Given the description of an element on the screen output the (x, y) to click on. 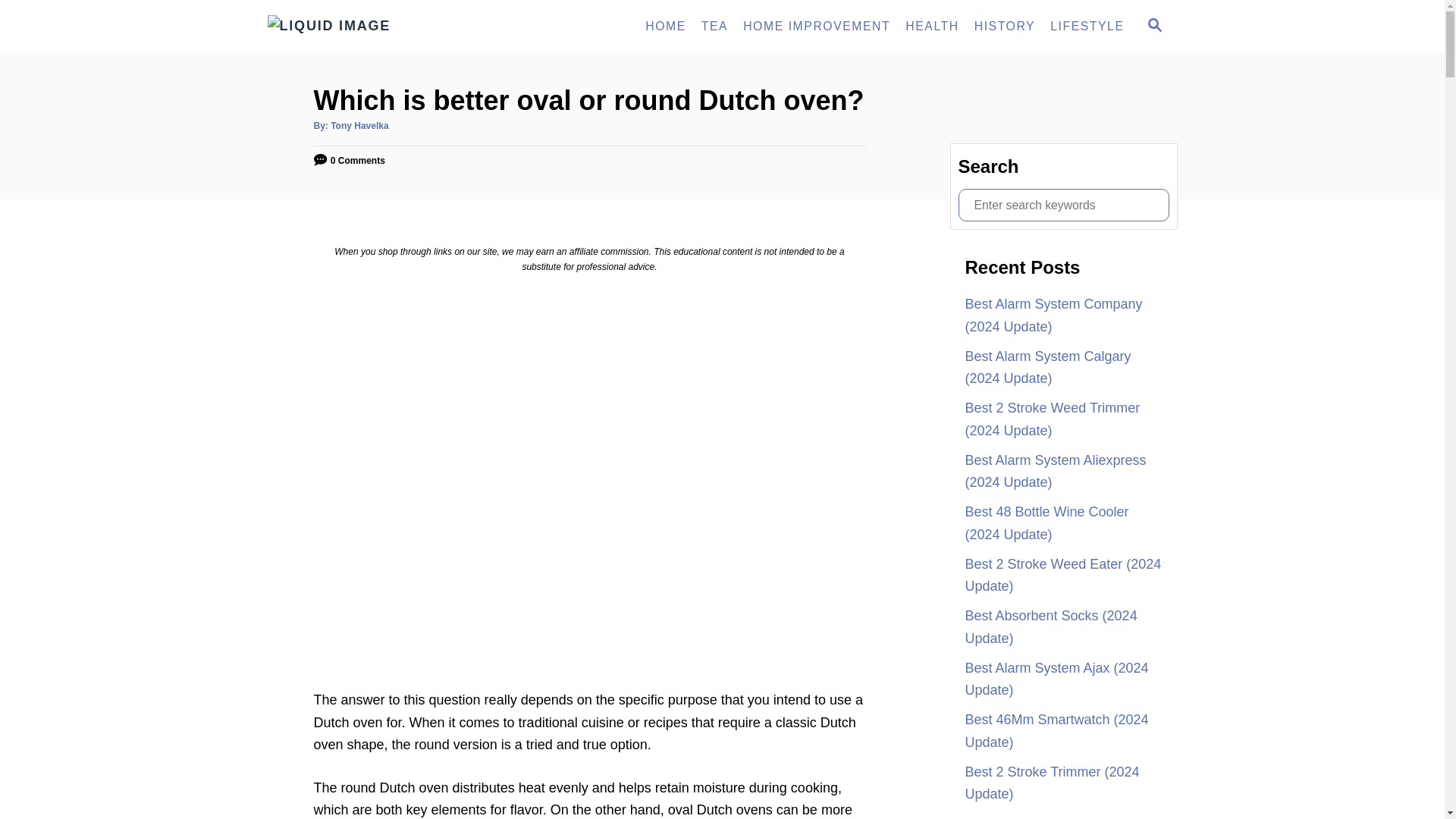
MAGNIFYING GLASS (1153, 24)
Liquid Image (403, 26)
TEA (714, 26)
LIFESTYLE (1086, 26)
HOME (665, 26)
HEALTH (932, 26)
Tony Havelka (359, 125)
HISTORY (1004, 26)
HOME IMPROVEMENT (1153, 26)
